Given the description of an element on the screen output the (x, y) to click on. 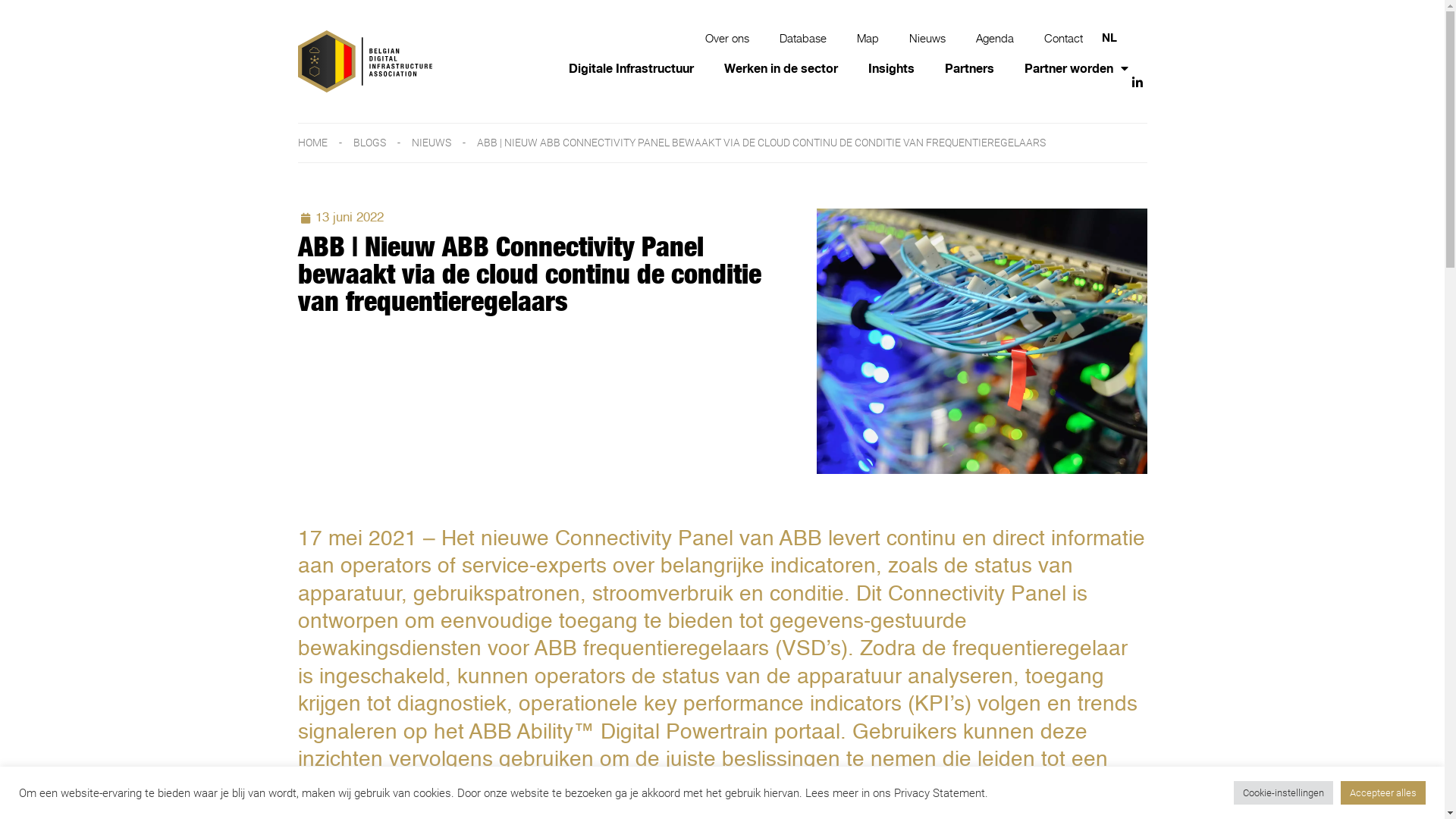
Cookie-instellingen Element type: text (1283, 792)
BLOGS Element type: text (369, 142)
NL Element type: text (1109, 36)
Over ons Element type: text (727, 37)
Insights Element type: text (891, 67)
Werken in de sector Element type: text (781, 67)
Digitale Infrastructuur Element type: text (631, 67)
Nieuws Element type: text (927, 37)
Partner worden Element type: text (1076, 67)
Map Element type: text (867, 37)
HOME Element type: text (311, 142)
Database Element type: text (802, 37)
NIEUWS Element type: text (430, 142)
Agenda Element type: text (994, 37)
Partners Element type: text (969, 67)
Accepteer alles Element type: text (1382, 792)
Contact Element type: text (1063, 37)
